Given the description of an element on the screen output the (x, y) to click on. 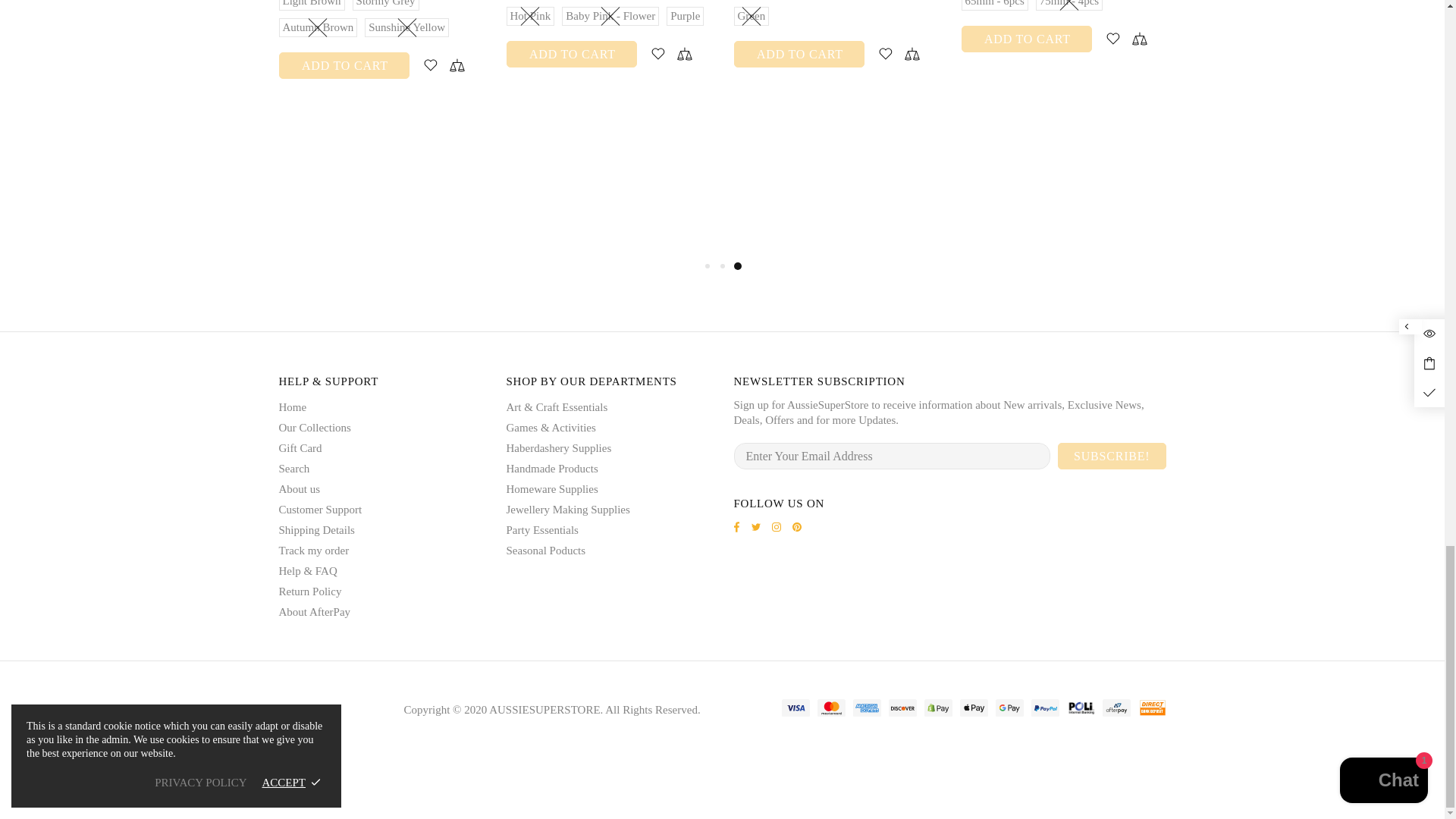
SUBSCRIBE! (1112, 456)
